Given the description of an element on the screen output the (x, y) to click on. 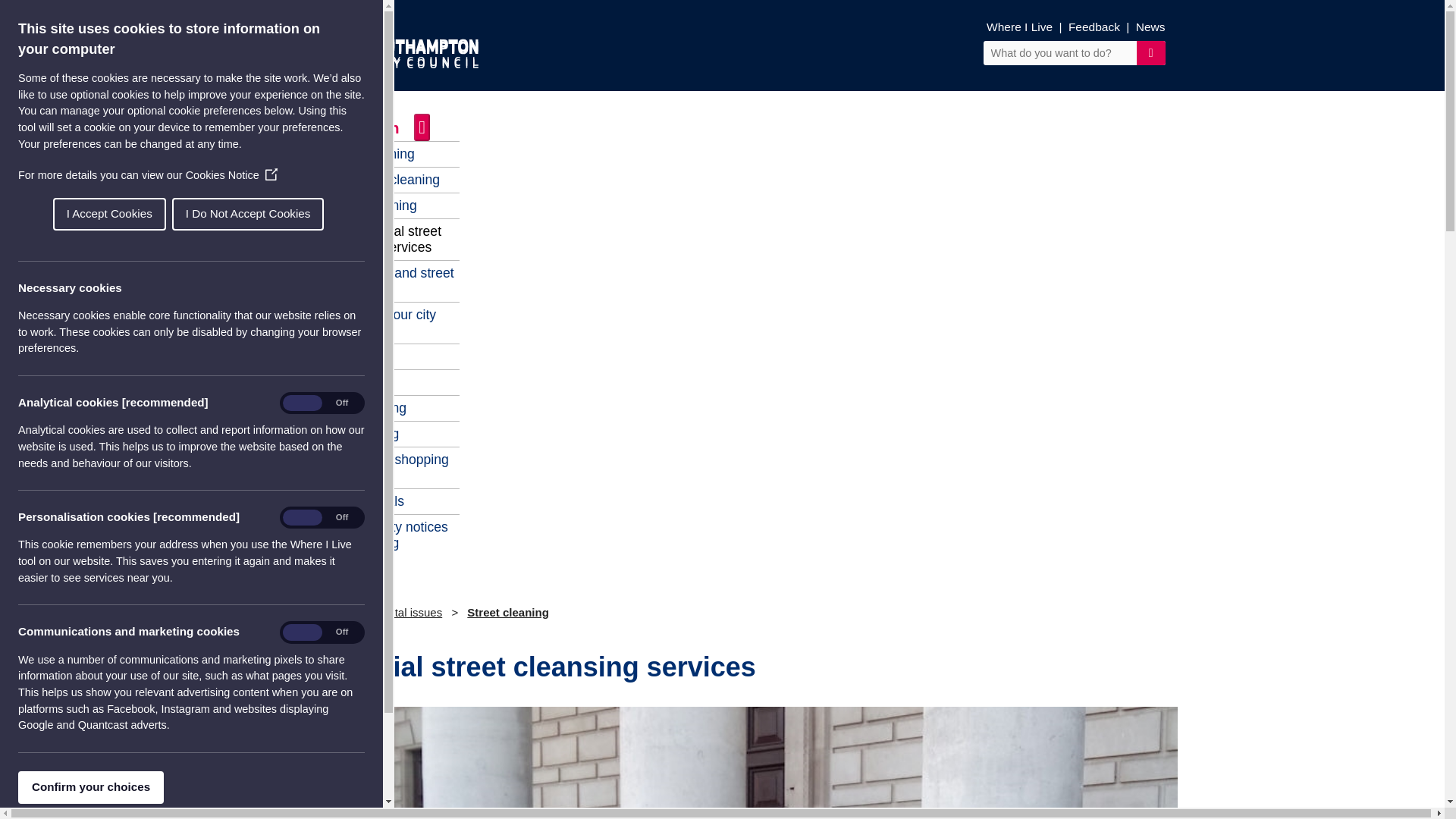
District cleaning (369, 205)
Leaf clearing (360, 433)
Animal fouling (365, 407)
Businesses and street cleaning (388, 280)
Fly-tipping (353, 355)
Feedback (1093, 27)
Home (293, 612)
Street Cleaning (368, 153)
News (1150, 27)
Commercial street cleansing (721, 762)
Dead animals (363, 500)
Environmental issues (388, 612)
Where I Live (1019, 27)
City centre cleaning (382, 179)
I Do Not Accept Cookies (8, 214)
